Given the description of an element on the screen output the (x, y) to click on. 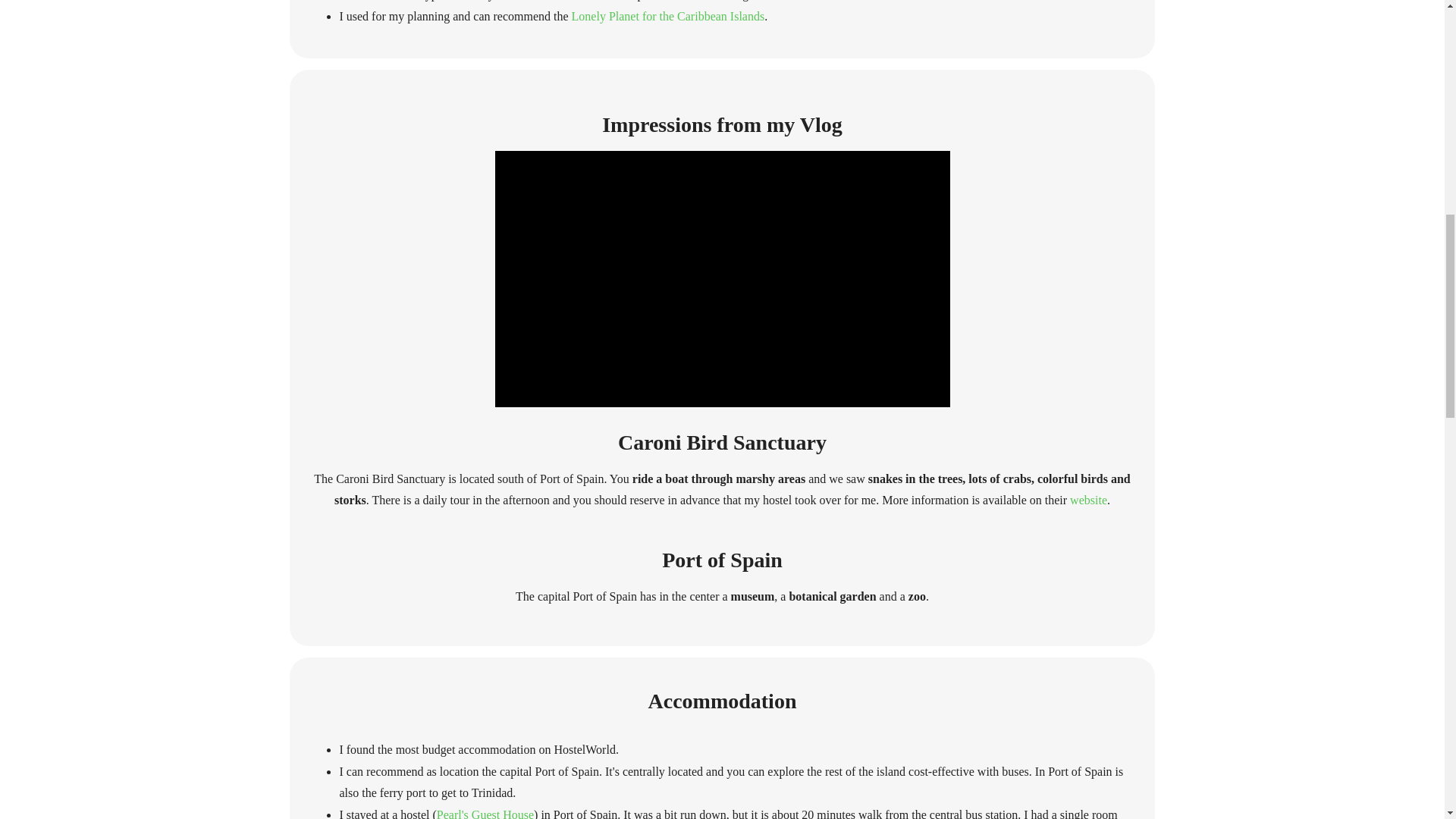
YouTube video player 1 (722, 278)
website (1088, 499)
Lonely Planet for the Caribbean Islands (668, 15)
Pearl's Guest House (485, 813)
